Given the description of an element on the screen output the (x, y) to click on. 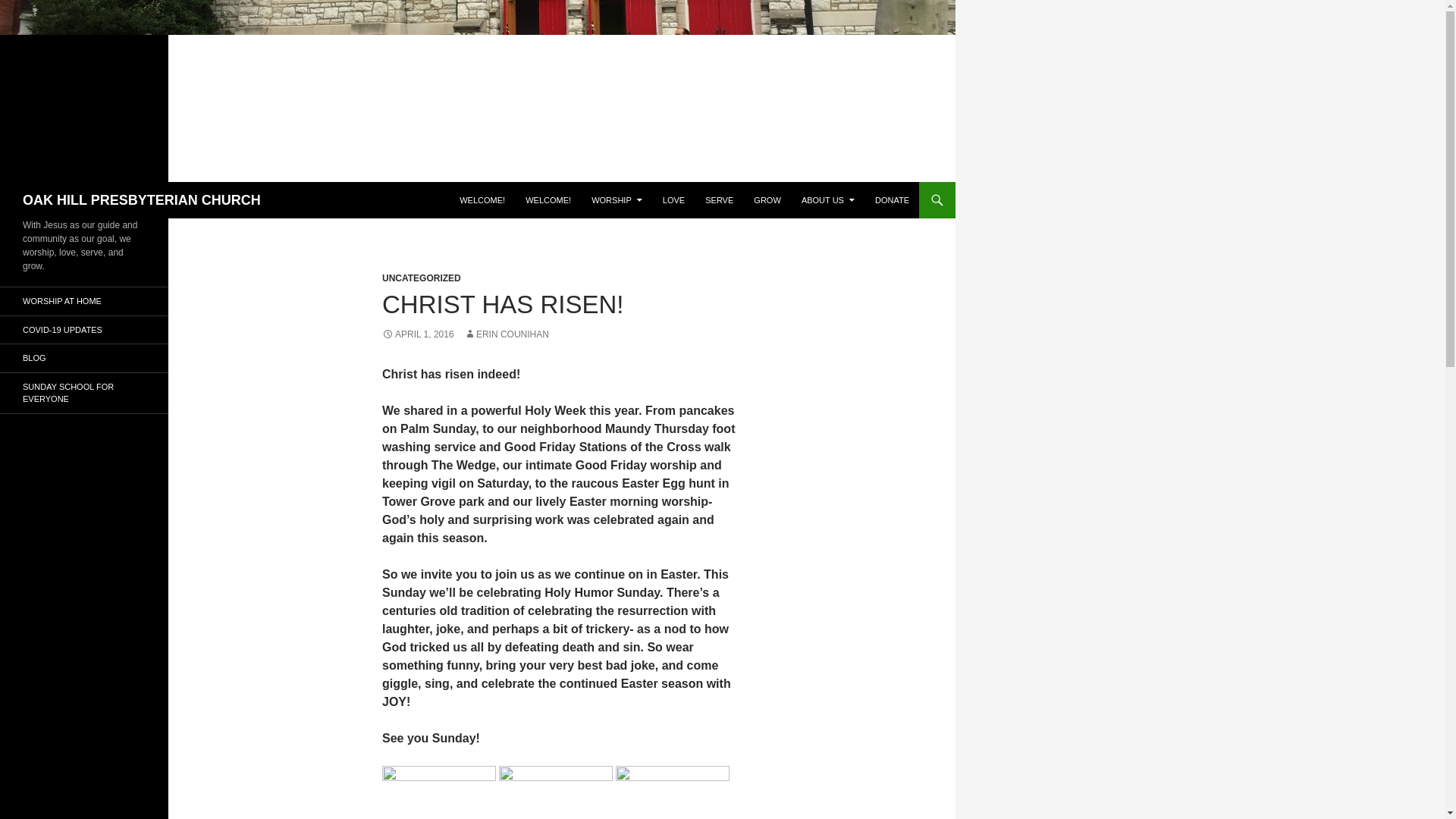
GROW (766, 199)
SERVE (718, 199)
DONATE (892, 199)
OAK HILL PRESBYTERIAN CHURCH (141, 199)
ERIN COUNIHAN (506, 334)
UNCATEGORIZED (421, 277)
WELCOME! (481, 199)
Worship (616, 199)
APRIL 1, 2016 (417, 334)
Love (673, 199)
LOVE (673, 199)
About Us (827, 199)
Grow (766, 199)
